Given the description of an element on the screen output the (x, y) to click on. 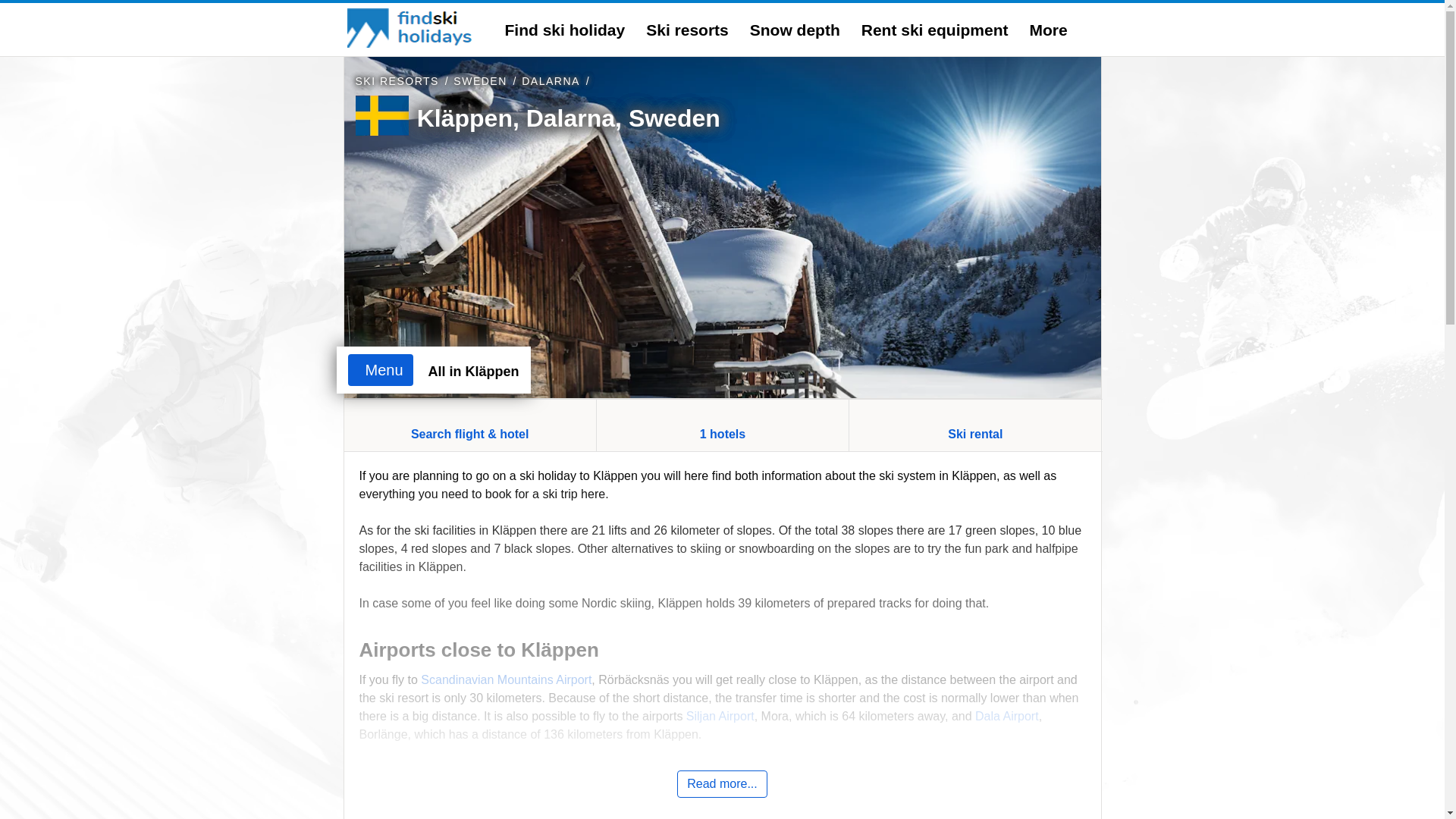
Ski resorts (687, 29)
Find ski holiday (565, 29)
Dalarna (550, 80)
Ski resorts (687, 29)
FindSkiHolidays.com (411, 26)
Sweden (479, 80)
Snow depth (794, 29)
Rent ski equipment (935, 29)
Snow depth (794, 29)
Find ski holiday (565, 29)
Rent ski equipment (935, 29)
More (1048, 29)
Ski resorts (396, 80)
